Given the description of an element on the screen output the (x, y) to click on. 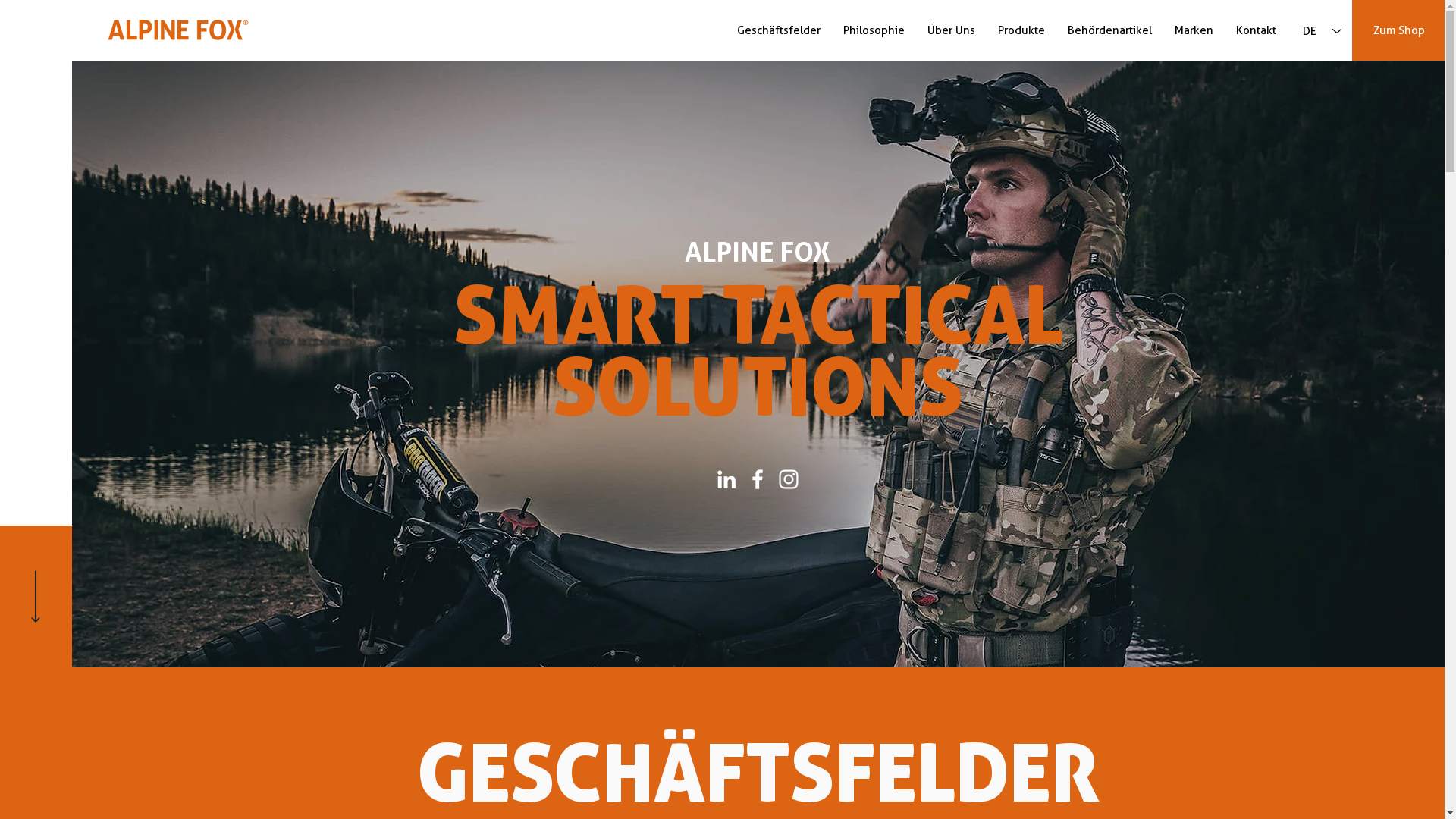
Zum Shop Element type: text (1398, 30)
Marken Element type: text (1193, 30)
Alpine Fox - Smart Tactical Solutions Element type: hover (181, 29)
Kontakt Element type: text (1254, 30)
Philosophie Element type: text (873, 30)
Produkte Element type: text (1020, 30)
